Given the description of an element on the screen output the (x, y) to click on. 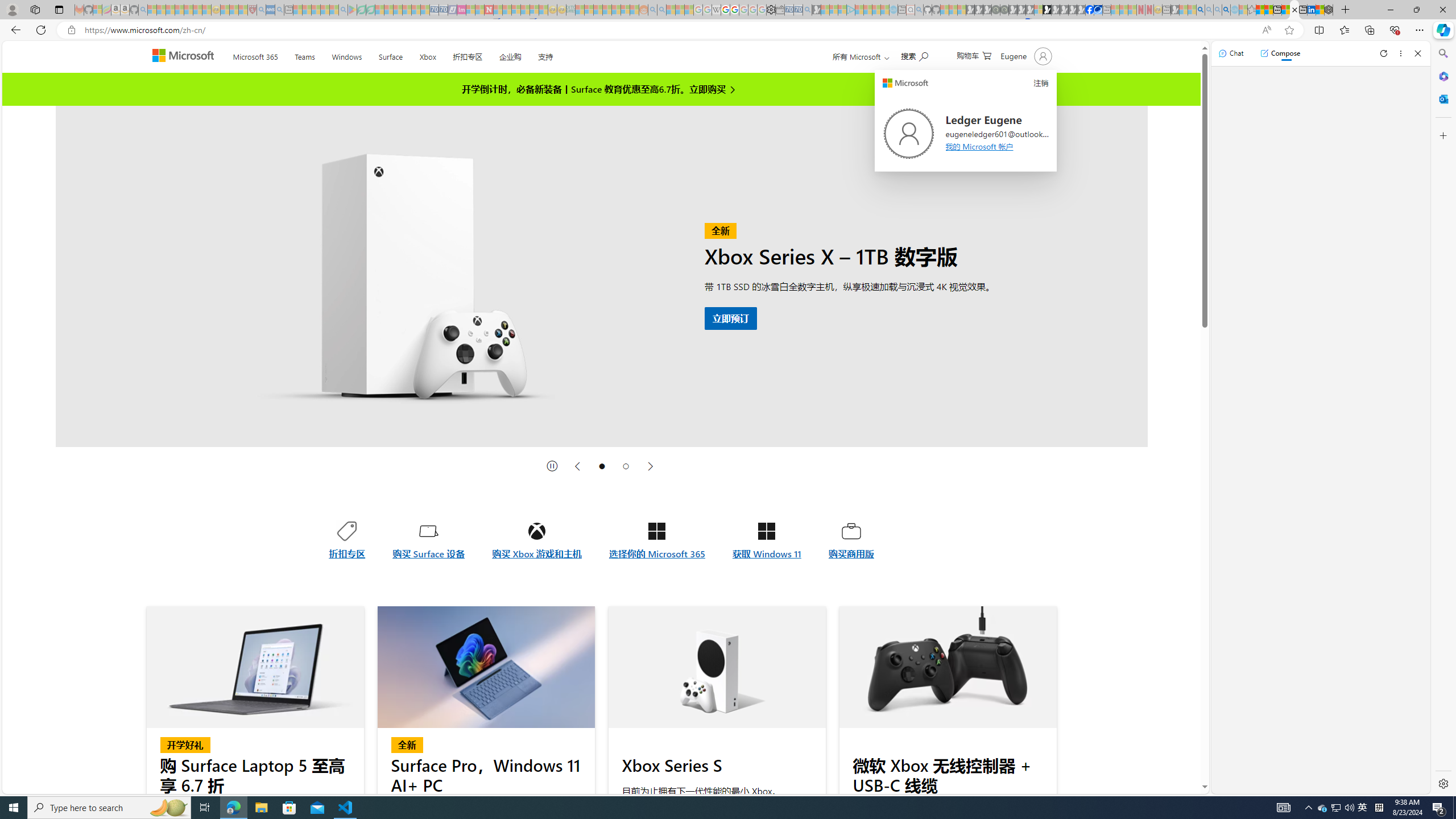
Minimize (1390, 9)
DITOGAMES AG Imprint - Sleeping (570, 9)
Refresh (1383, 53)
Cheap Hotels - Save70.com - Sleeping (442, 9)
Xbox (427, 54)
